Given the description of an element on the screen output the (x, y) to click on. 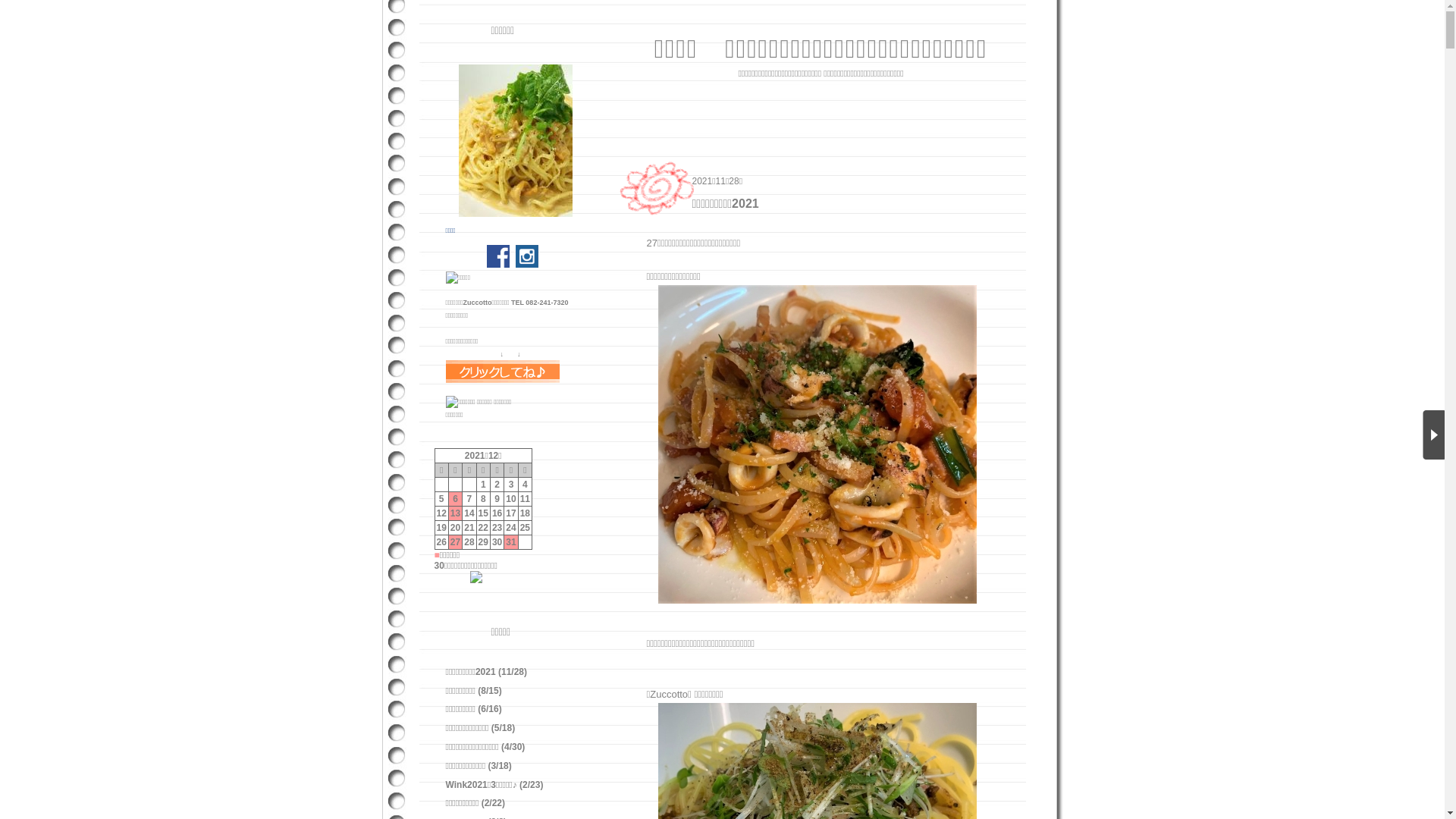
Zuccotto Element type: text (477, 302)
Facebook Element type: hover (497, 255)
Instagram Element type: hover (526, 255)
